Given the description of an element on the screen output the (x, y) to click on. 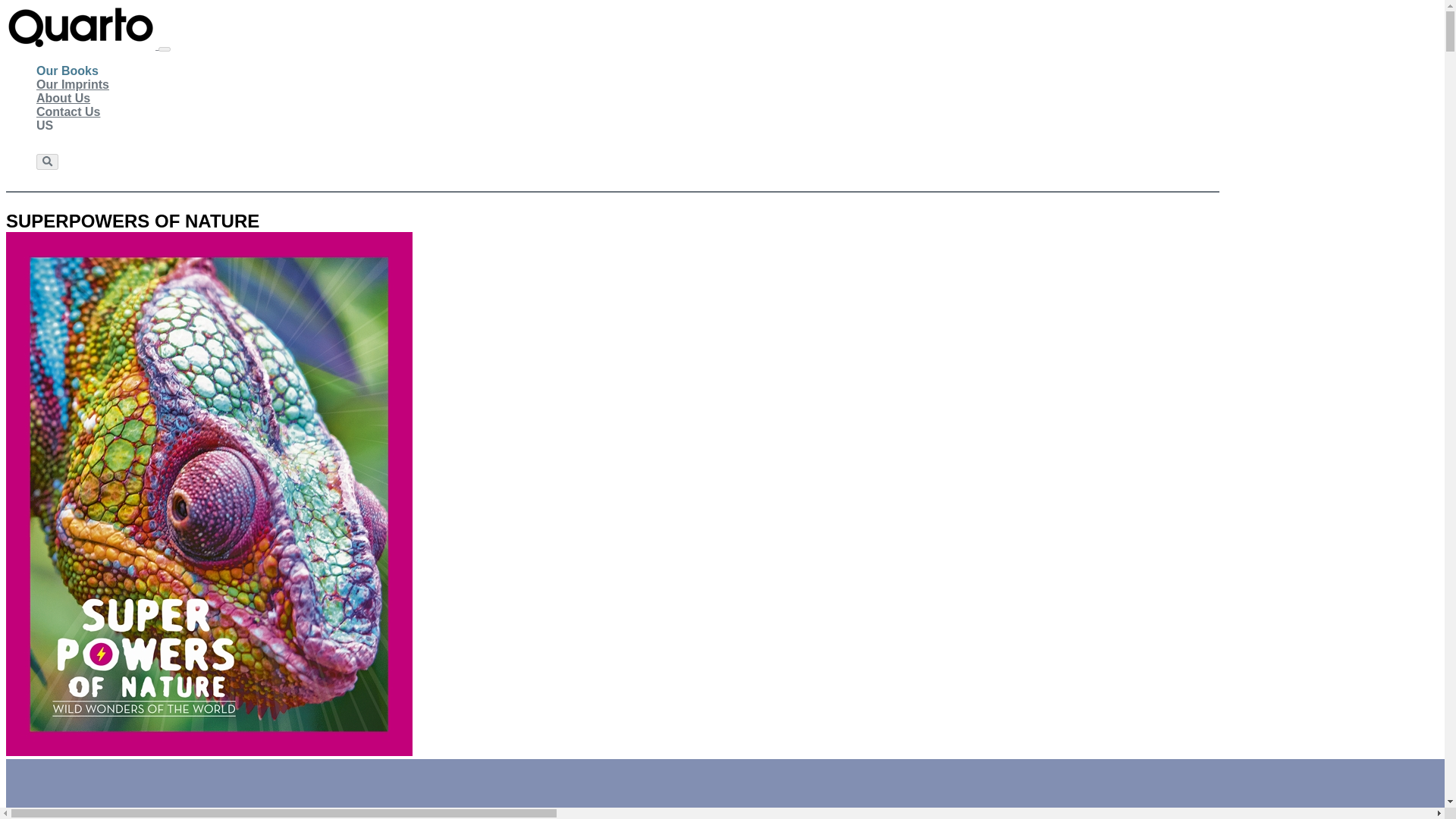
US (44, 125)
Our Books (67, 70)
Contact Us (68, 111)
About Us (63, 98)
Our Imprints (72, 84)
